Given the description of an element on the screen output the (x, y) to click on. 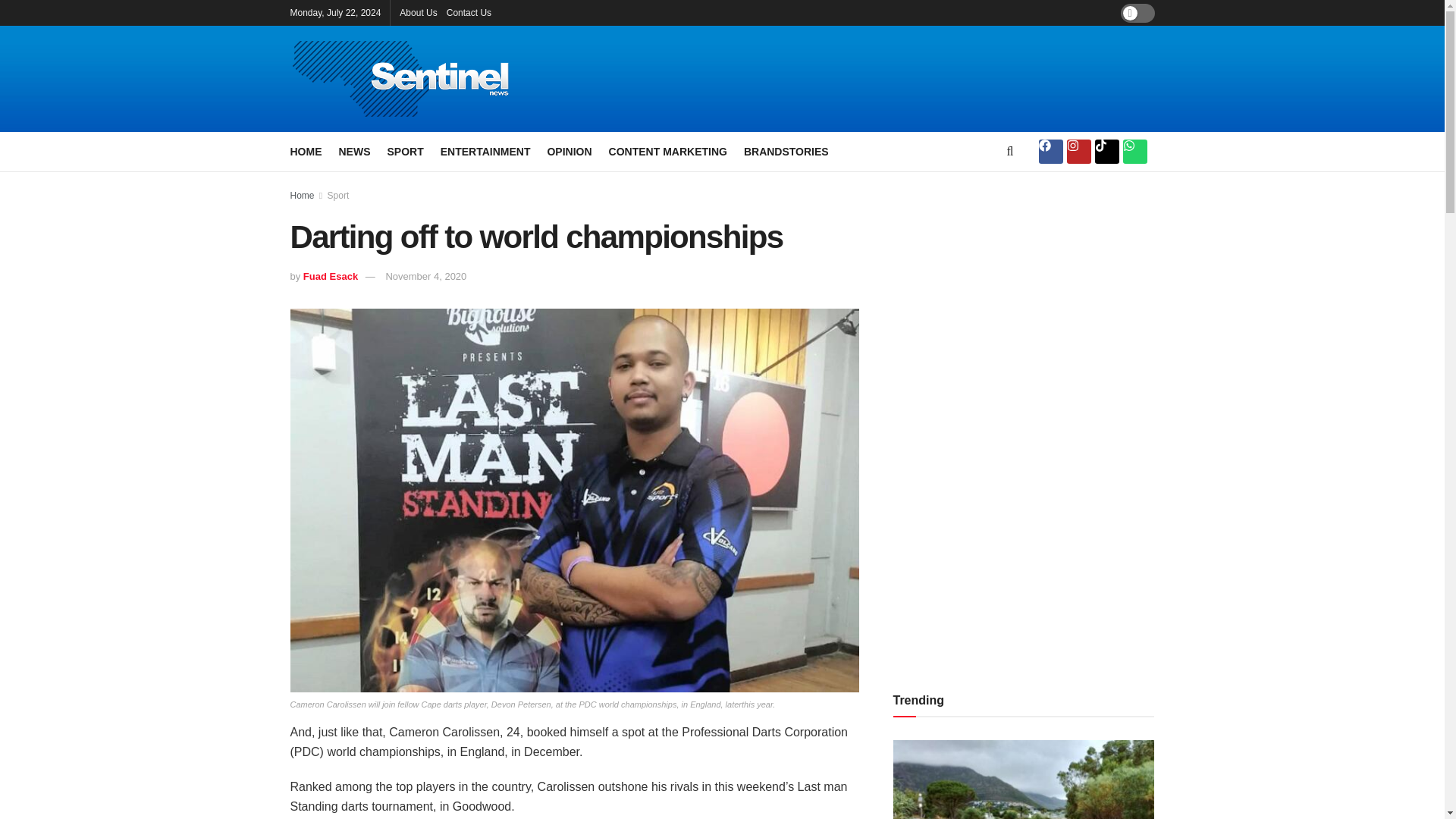
Home (301, 195)
Contact Us (469, 12)
3rd party ad content (888, 79)
HOME (305, 151)
SPORT (405, 151)
About Us (417, 12)
November 4, 2020 (425, 276)
Fuad Esack (330, 276)
Sport (338, 195)
CONTENT MARKETING (667, 151)
NEWS (353, 151)
OPINION (569, 151)
ENTERTAINMENT (486, 151)
BRANDSTORIES (786, 151)
